Given the description of an element on the screen output the (x, y) to click on. 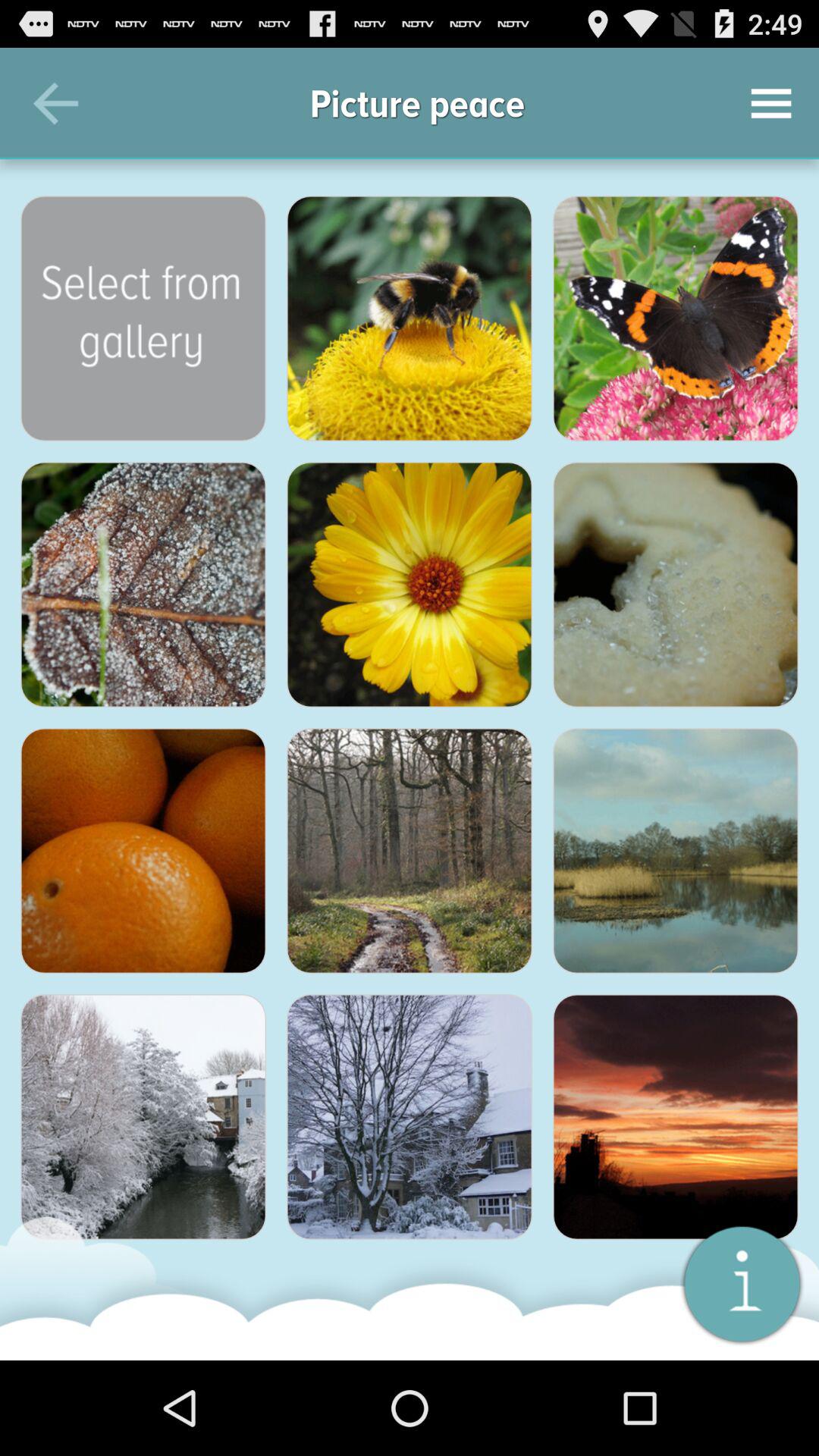
wallpaper (409, 1116)
